Given the description of an element on the screen output the (x, y) to click on. 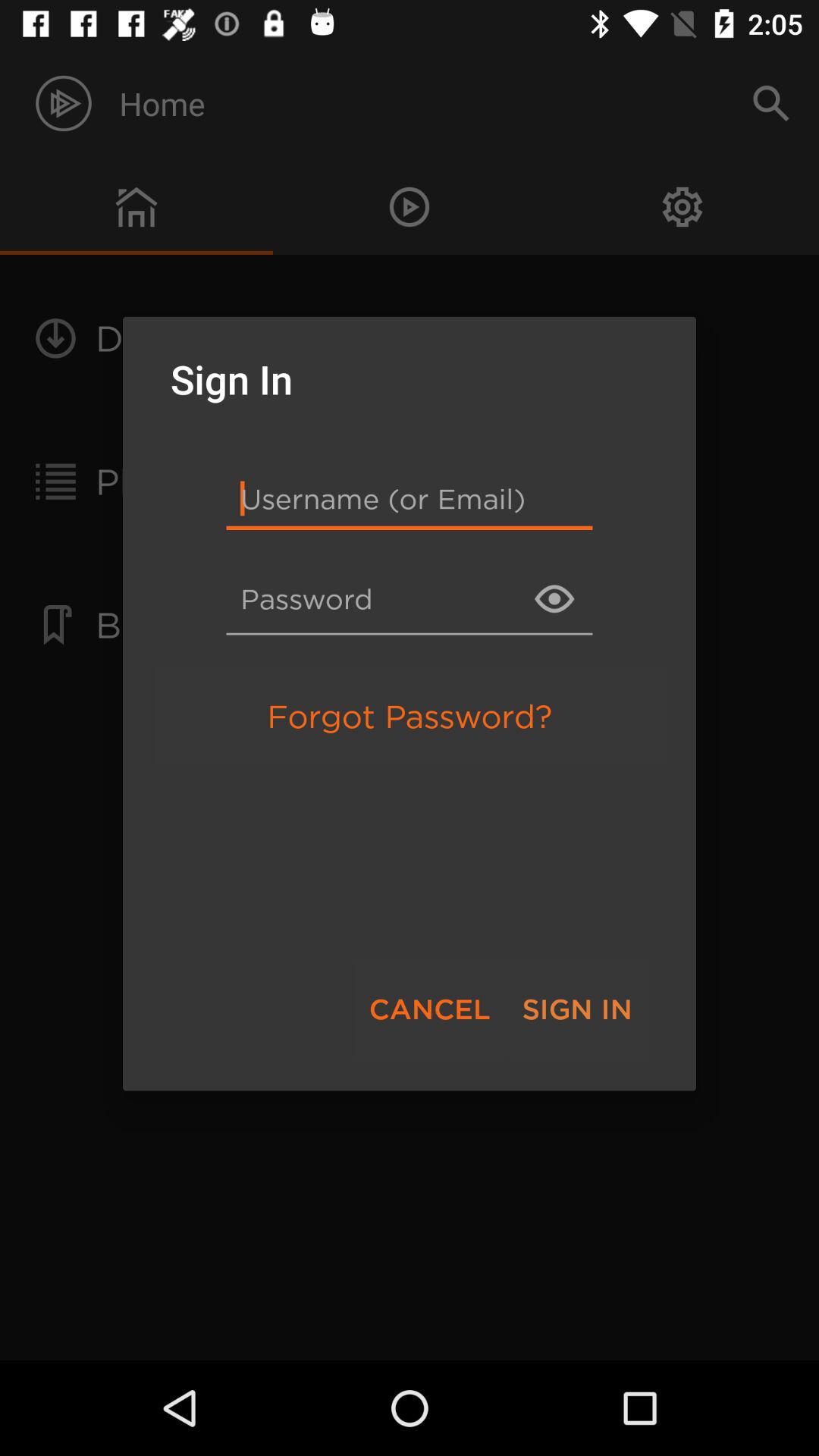
launch icon above the cancel (409, 716)
